Given the description of an element on the screen output the (x, y) to click on. 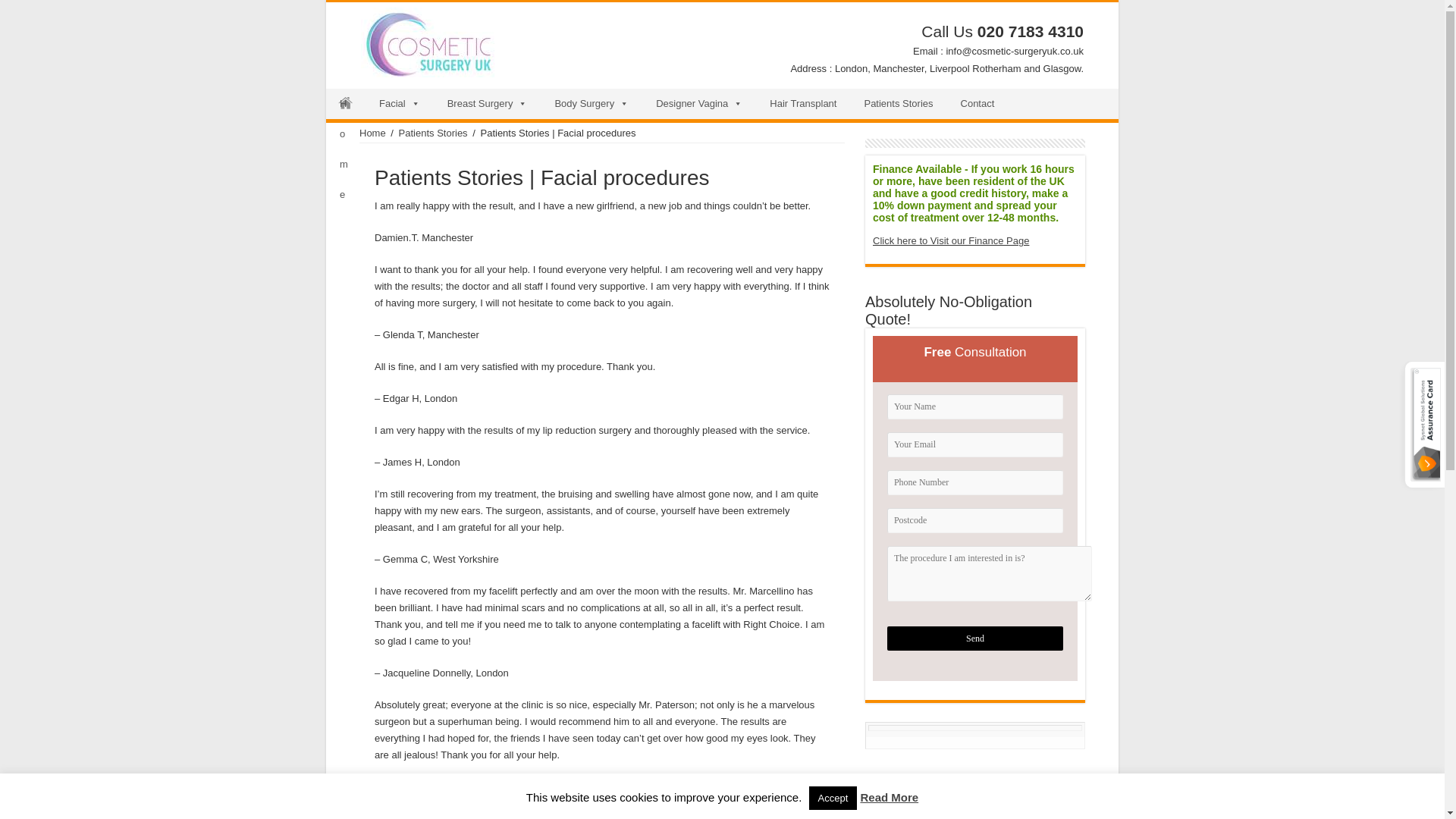
Home (372, 132)
Contact (978, 103)
Patients Stories (898, 103)
Home (345, 103)
Breast Surgery (487, 103)
Facial (399, 103)
Send (974, 638)
Click here to Visit our Finance Page (950, 240)
Send (974, 638)
Hair Transplant (802, 103)
Body Surgery (591, 103)
Designer Vagina (698, 103)
Cosmetic Surgery UK (429, 39)
Patients Stories (432, 132)
